Given the description of an element on the screen output the (x, y) to click on. 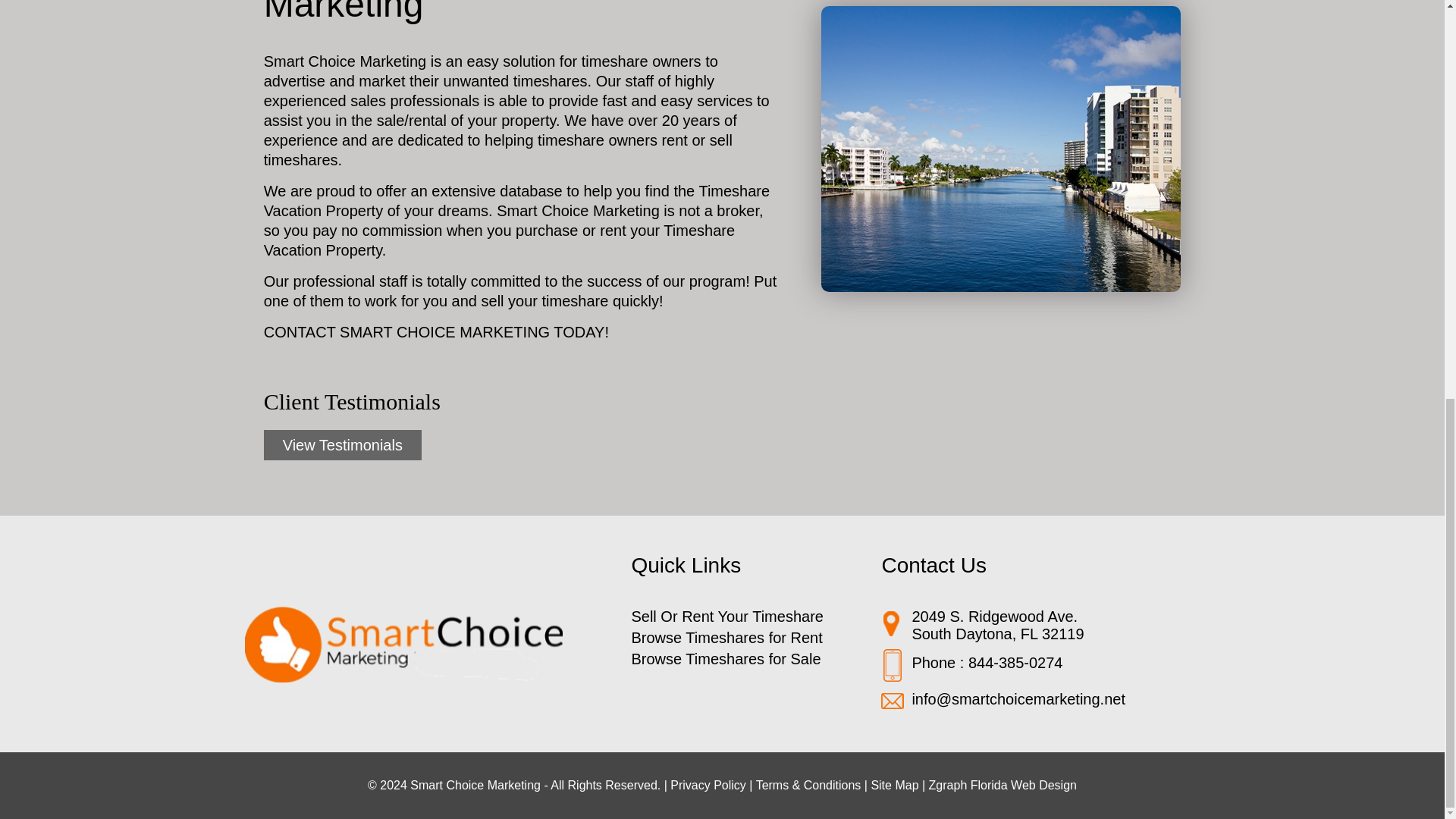
Zgraph (948, 784)
844-385-0274 (1015, 662)
Privacy Policy (707, 784)
View Testimonials (342, 444)
Site Map (894, 784)
Browse Timeshares for Rent (726, 637)
Browse Timeshares for Sale (725, 658)
Sell Or Rent Your Timeshare (726, 616)
